Given the description of an element on the screen output the (x, y) to click on. 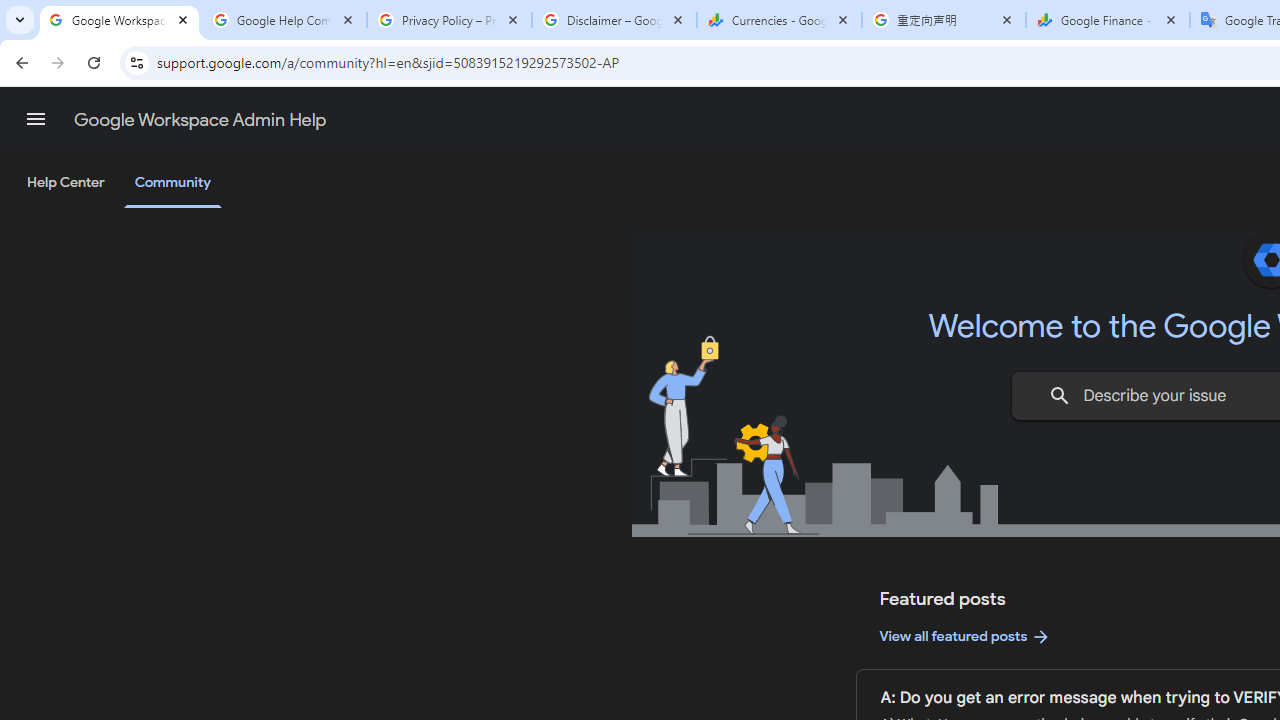
Help Center (65, 183)
Main menu (35, 119)
Forward (57, 62)
Community (171, 183)
System (10, 11)
